Given the description of an element on the screen output the (x, y) to click on. 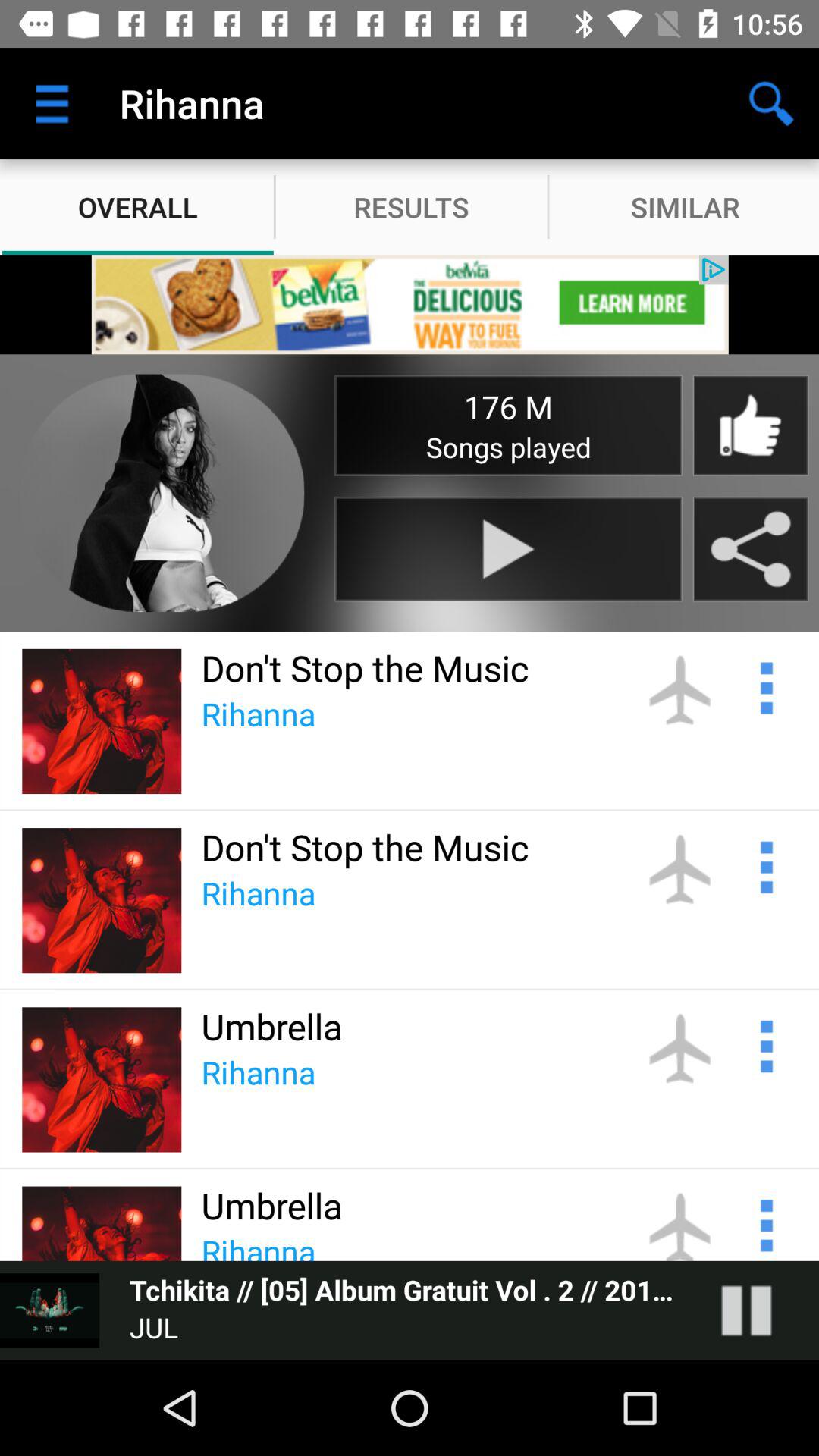
share the article (750, 548)
